Given the description of an element on the screen output the (x, y) to click on. 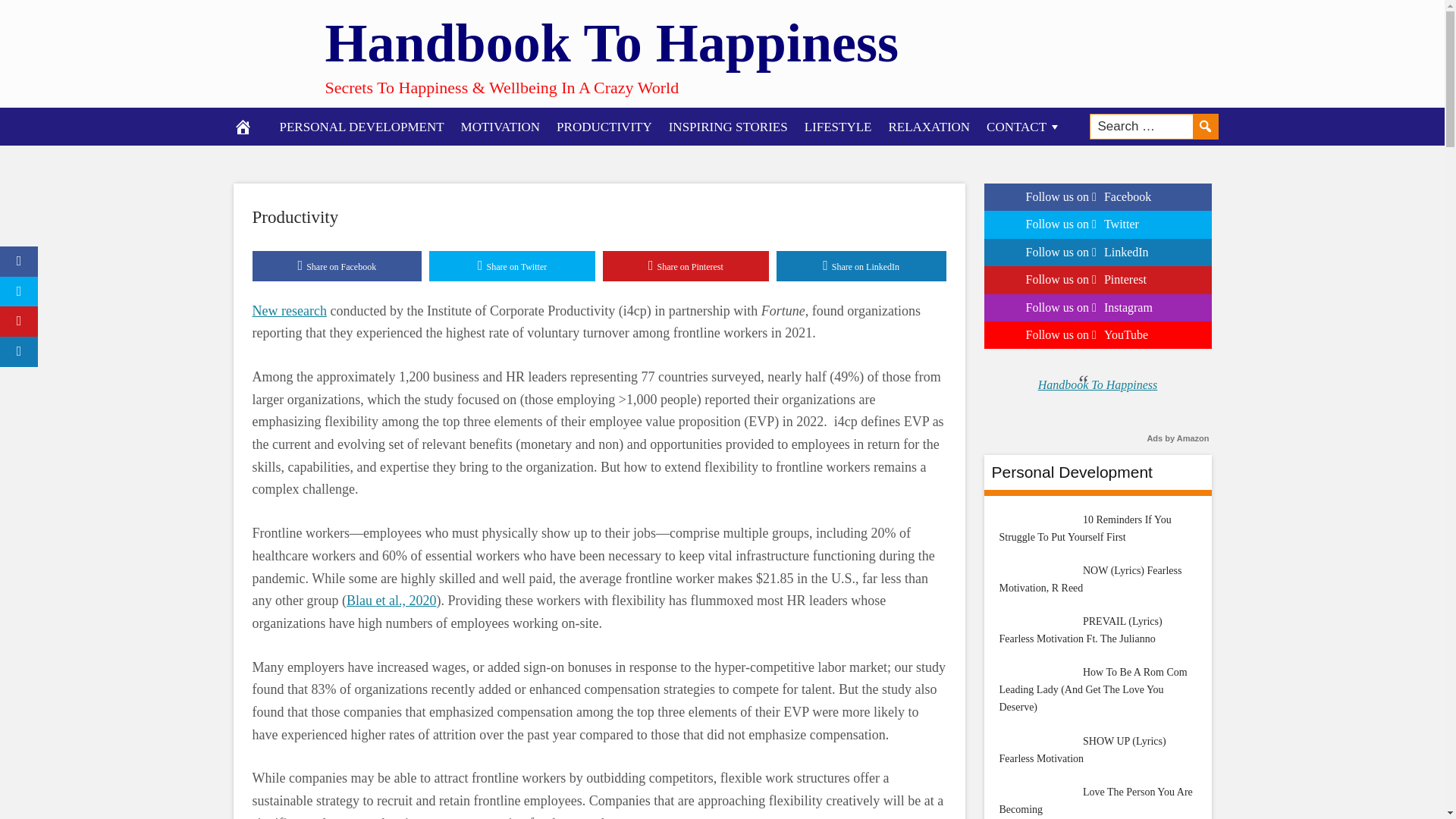
INSPIRING STORIES (728, 126)
PERSONAL DEVELOPMENT (361, 126)
MOTIVATION (500, 126)
PRODUCTIVITY (604, 126)
LIFESTYLE (838, 126)
Productivity (294, 217)
Productivity (294, 217)
CONTACT (1024, 126)
Handbook To Happiness (611, 42)
Share on Facebook (336, 265)
